Given the description of an element on the screen output the (x, y) to click on. 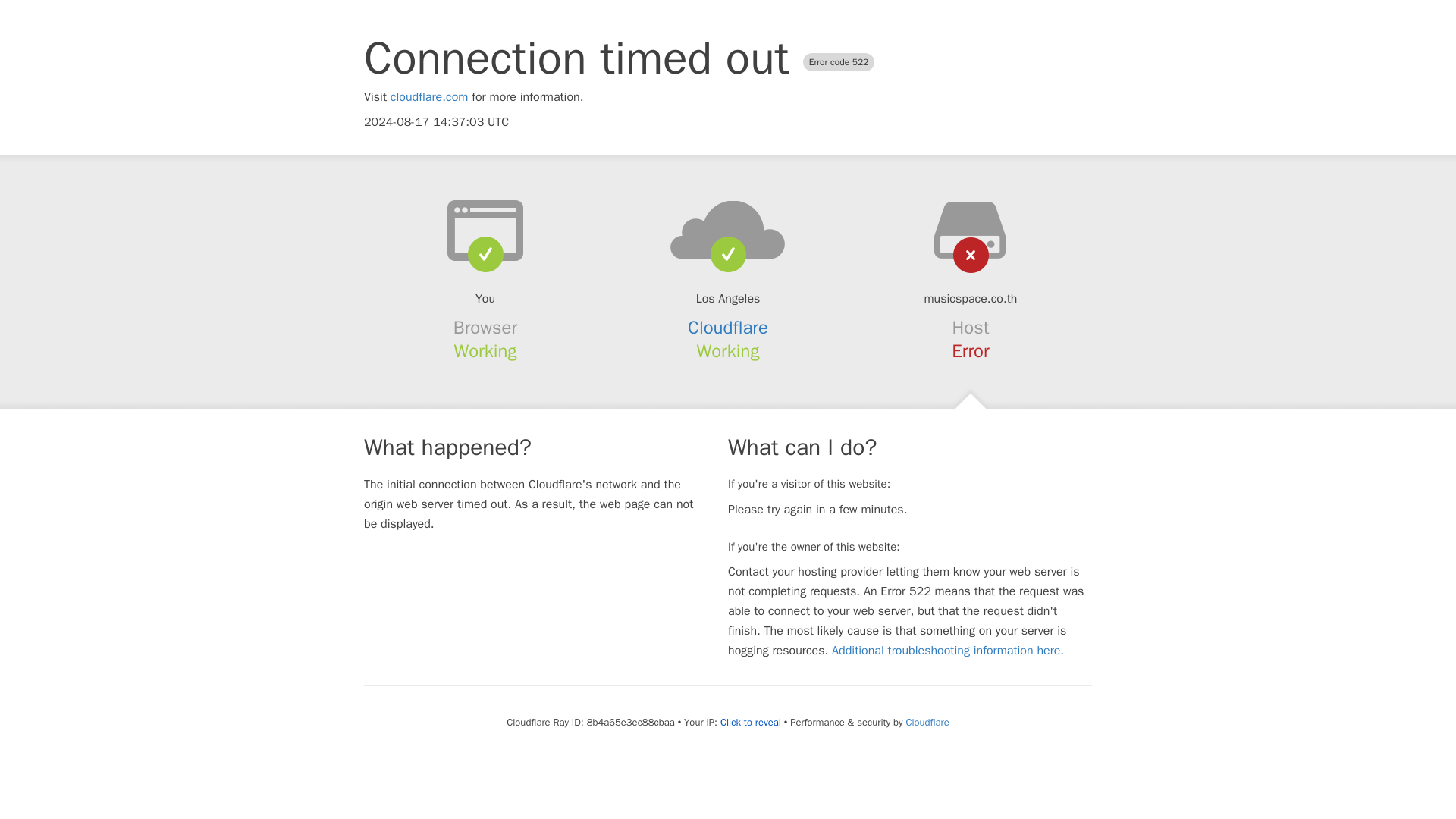
Cloudflare (927, 721)
Additional troubleshooting information here. (947, 650)
cloudflare.com (429, 96)
Cloudflare (727, 327)
Click to reveal (750, 722)
